Given the description of an element on the screen output the (x, y) to click on. 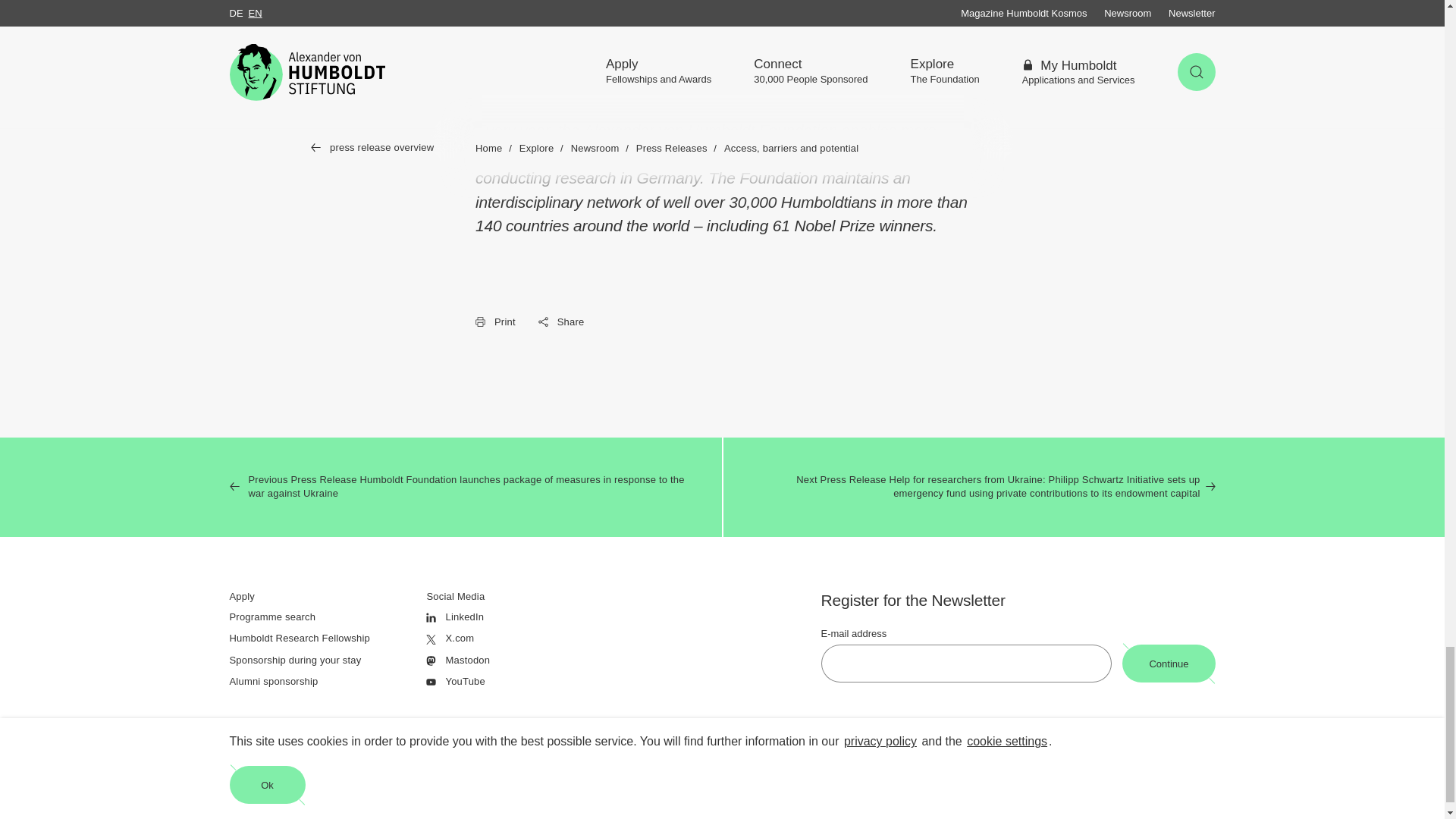
Diese Seite teilen (561, 321)
